Given the description of an element on the screen output the (x, y) to click on. 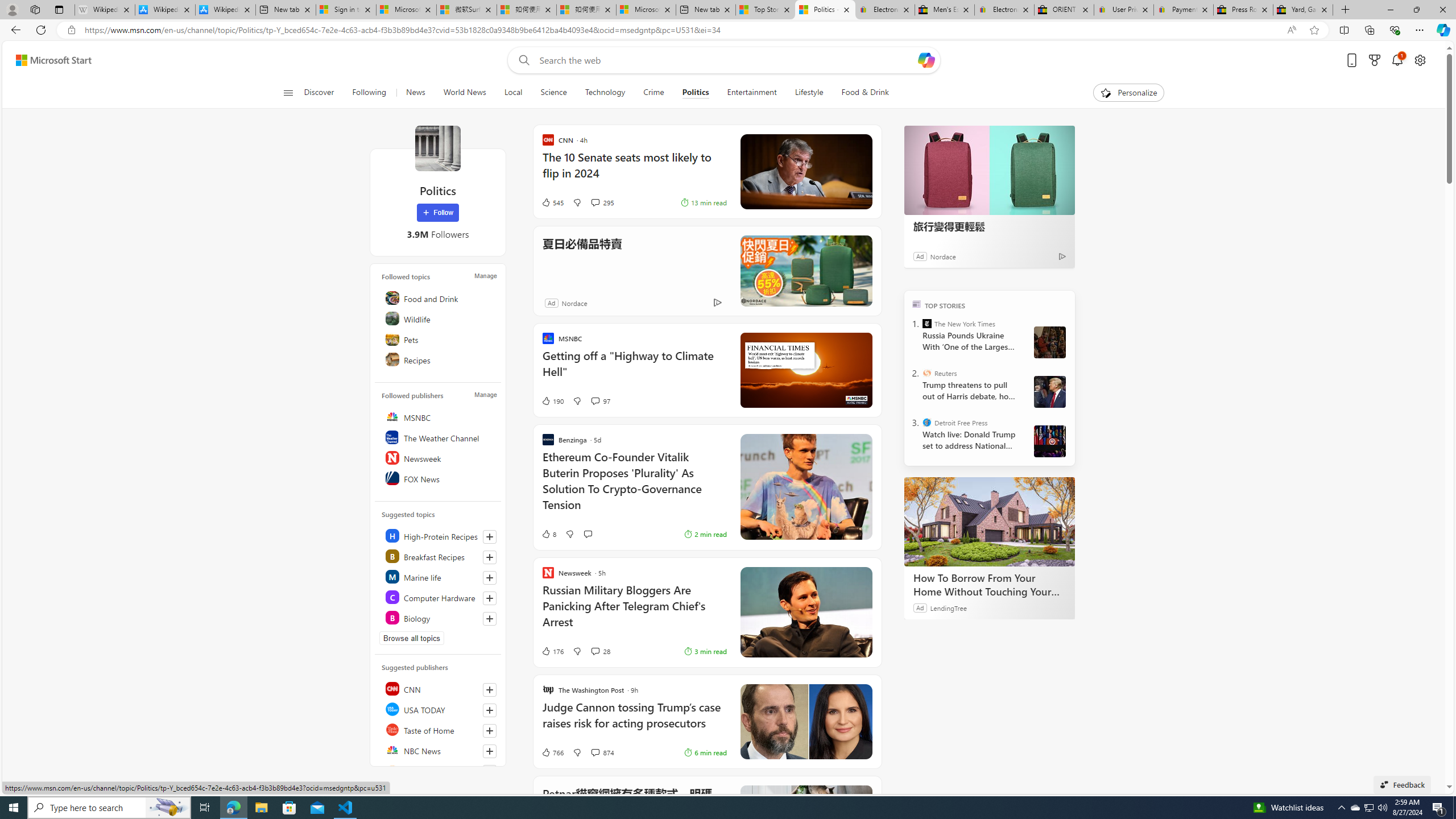
NBC News (439, 750)
FOX News (439, 478)
The 10 Senate seats most likely to flip in 2024 (633, 171)
